Given the description of an element on the screen output the (x, y) to click on. 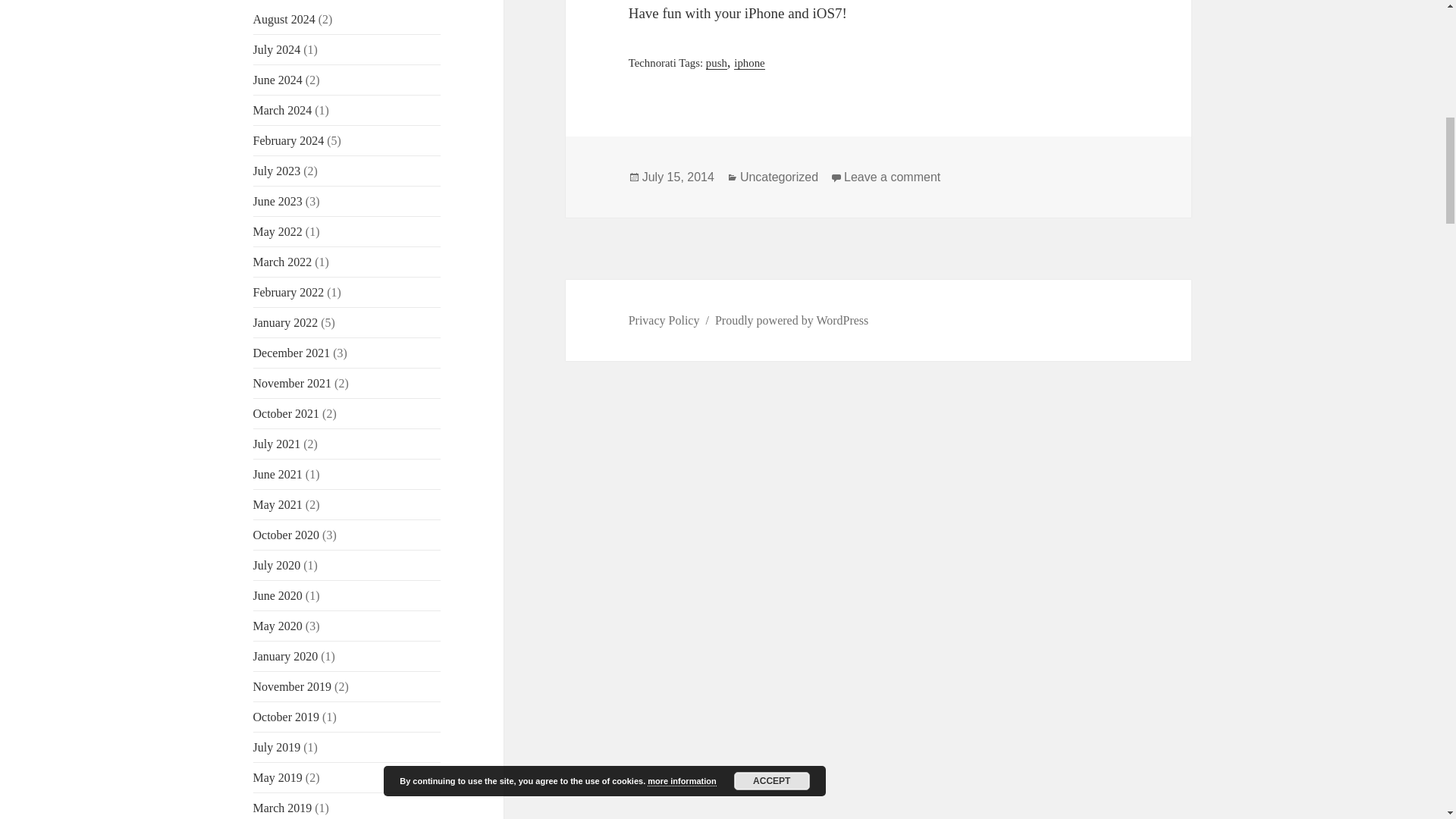
July 2023 (277, 170)
July 2019 (277, 747)
June 2020 (277, 594)
May 2019 (277, 777)
June 2023 (277, 201)
December 2021 (291, 352)
July 2020 (277, 564)
January 2022 (285, 322)
February 2024 (288, 140)
November 2019 (292, 686)
